Given the description of an element on the screen output the (x, y) to click on. 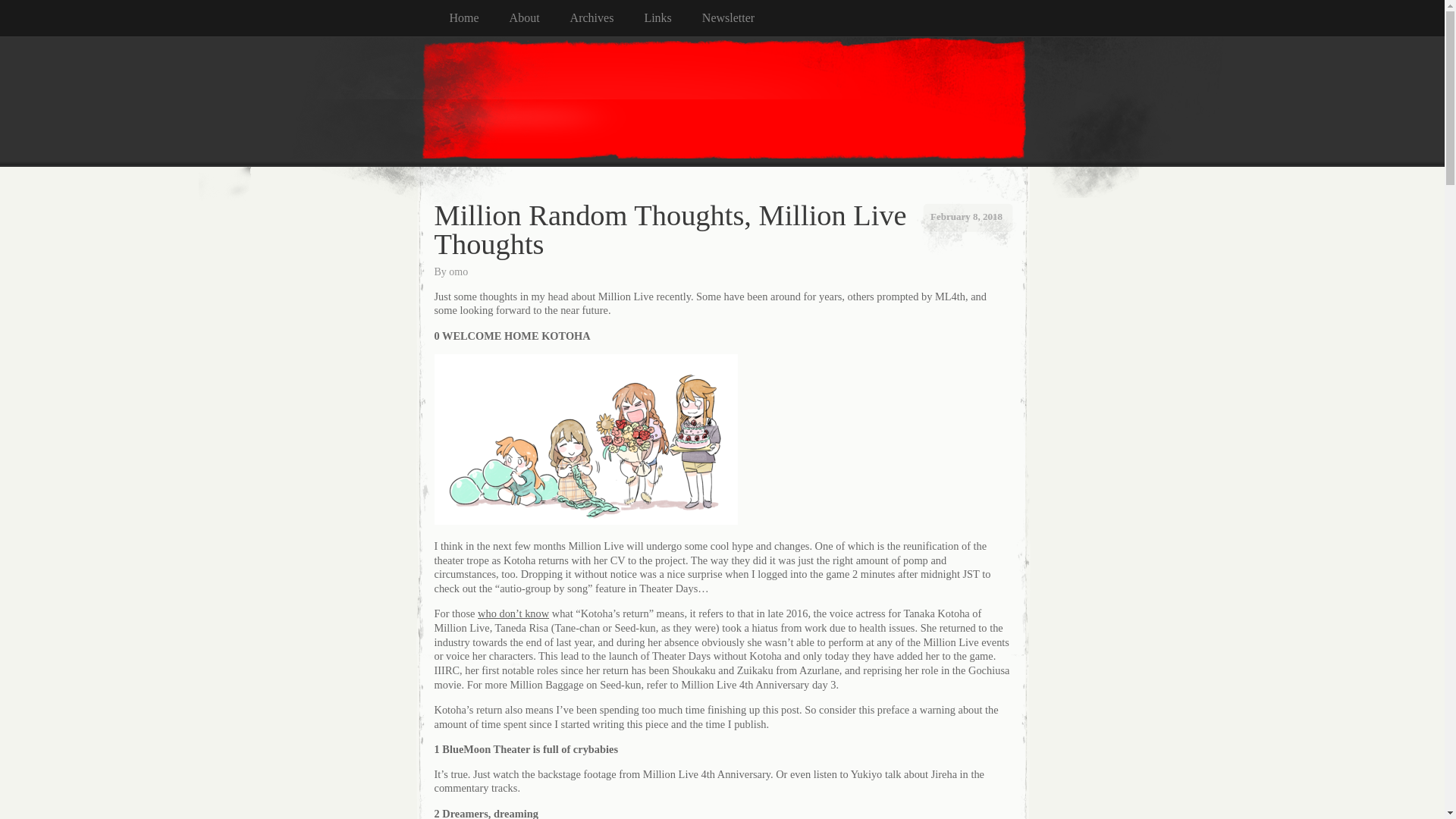
omo (457, 271)
View all posts by omo (457, 271)
Archives (607, 18)
Links (672, 18)
Home (478, 18)
Newsletter (742, 18)
About (539, 18)
